Given the description of an element on the screen output the (x, y) to click on. 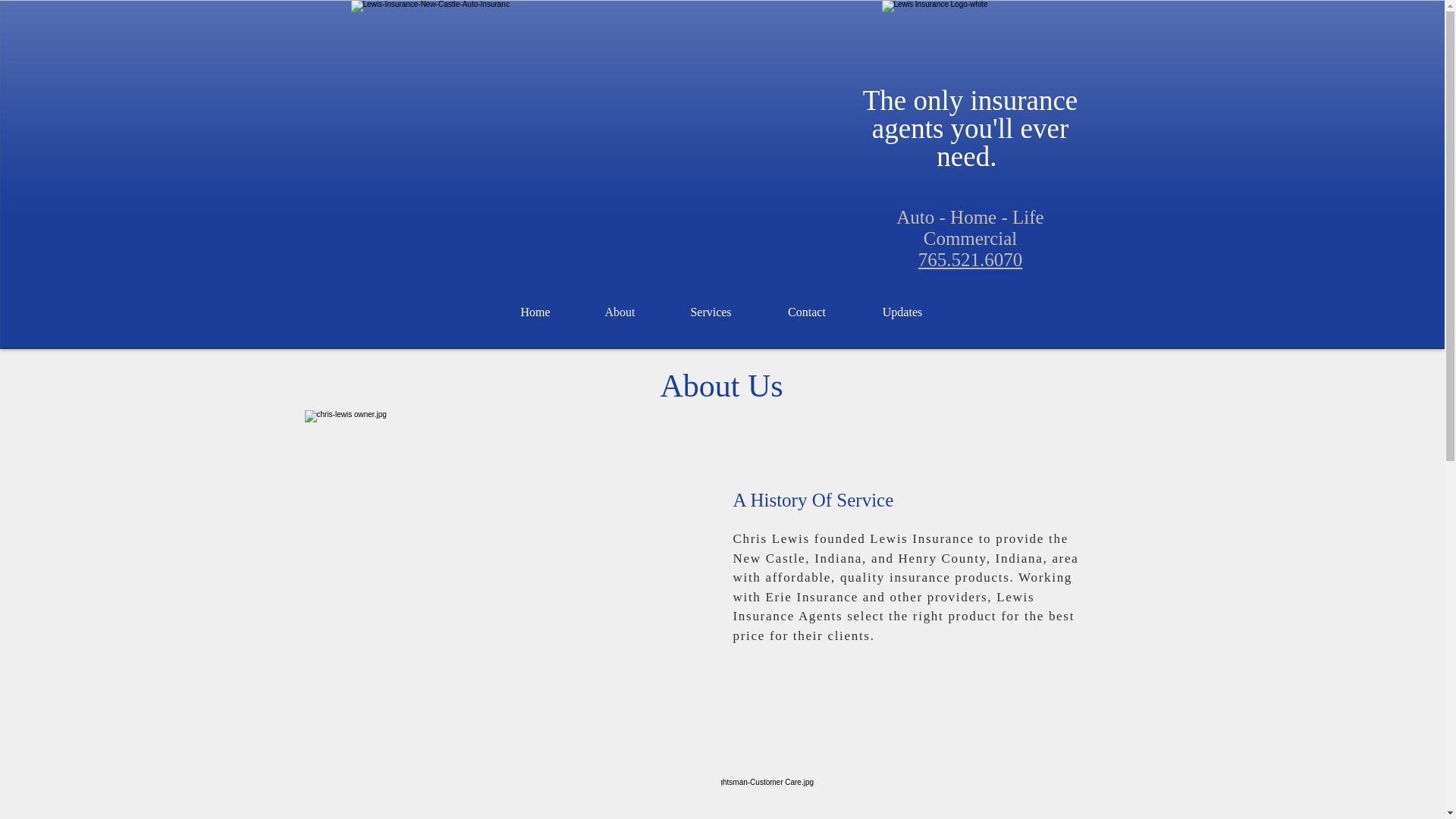
765.521.6070 (970, 259)
Services (711, 312)
The only insurance agents you'll ever need.  (970, 128)
Contact (807, 312)
Updates (901, 312)
About (620, 312)
Home (534, 312)
